Given the description of an element on the screen output the (x, y) to click on. 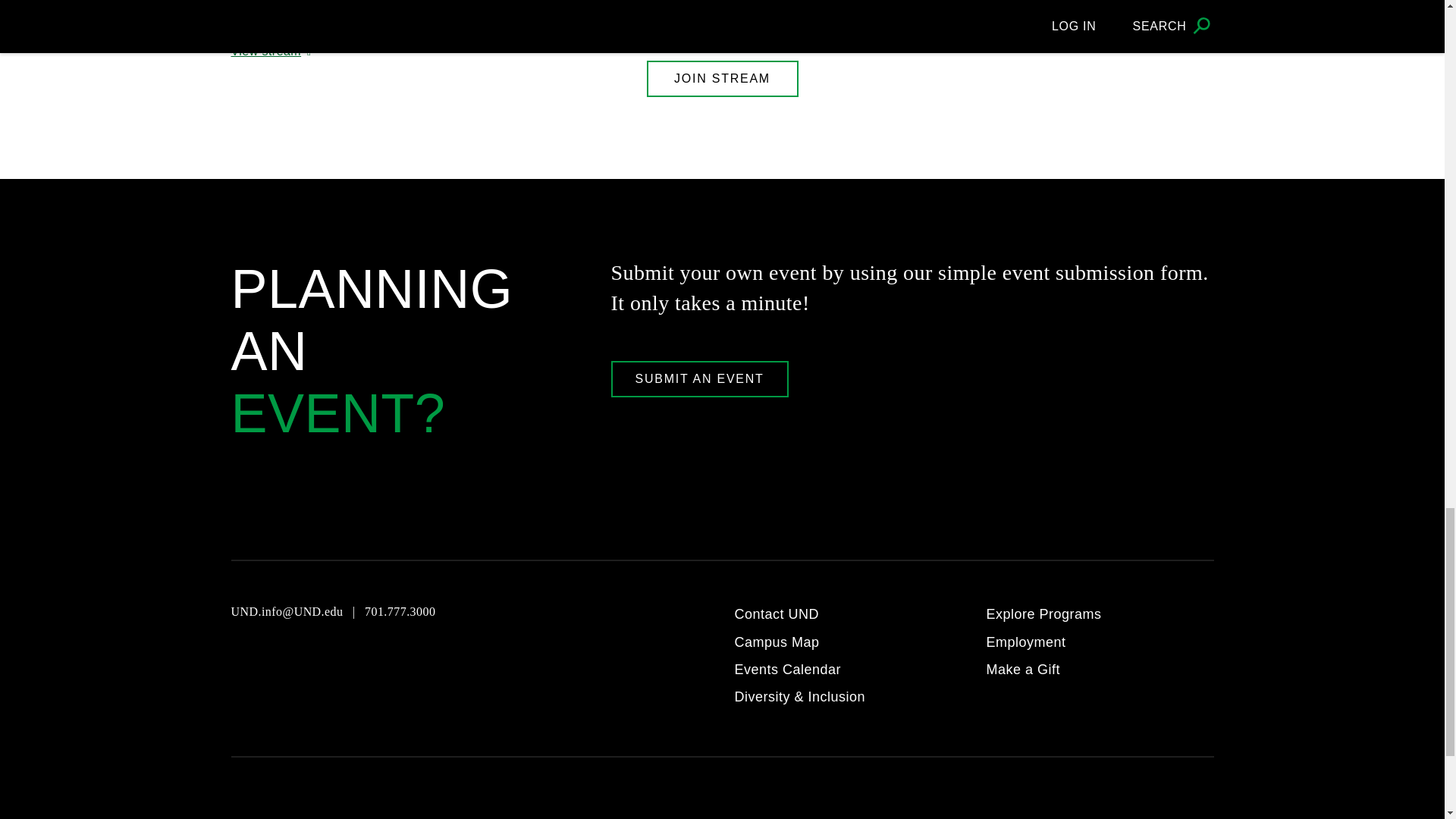
YouTube (240, 654)
LinkedIn (389, 654)
Facebook (315, 654)
Instagram (277, 654)
Twitter (352, 654)
